Given the description of an element on the screen output the (x, y) to click on. 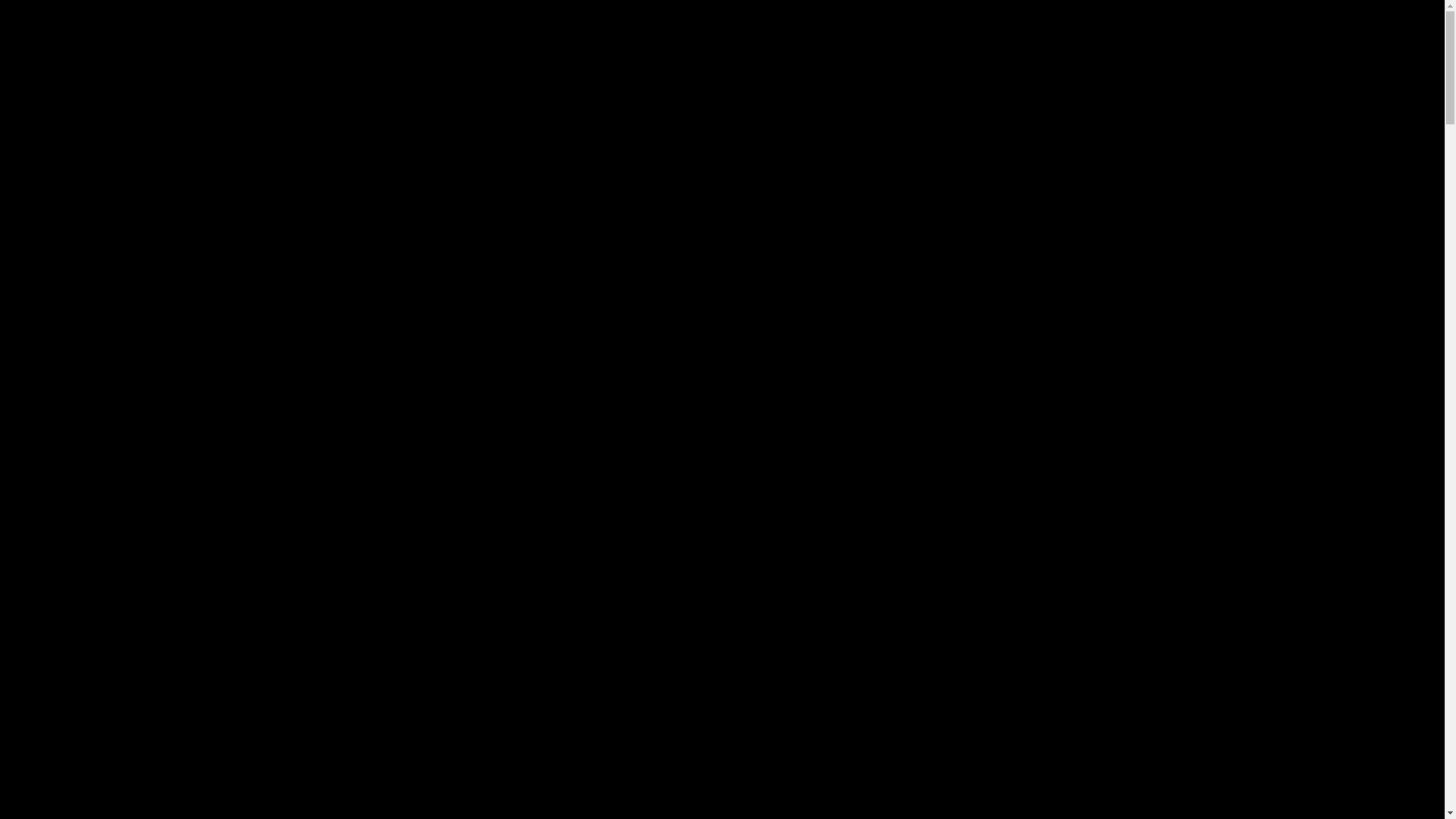
HOME Element type: text (705, 64)
NEWS Element type: text (767, 64)
HOME Element type: text (304, 437)
ANKAUF Element type: text (1065, 64)
KONTAKT Element type: text (1141, 64)
FAHRZEUGE UND MEHR Element type: text (956, 64)
